Given the description of an element on the screen output the (x, y) to click on. 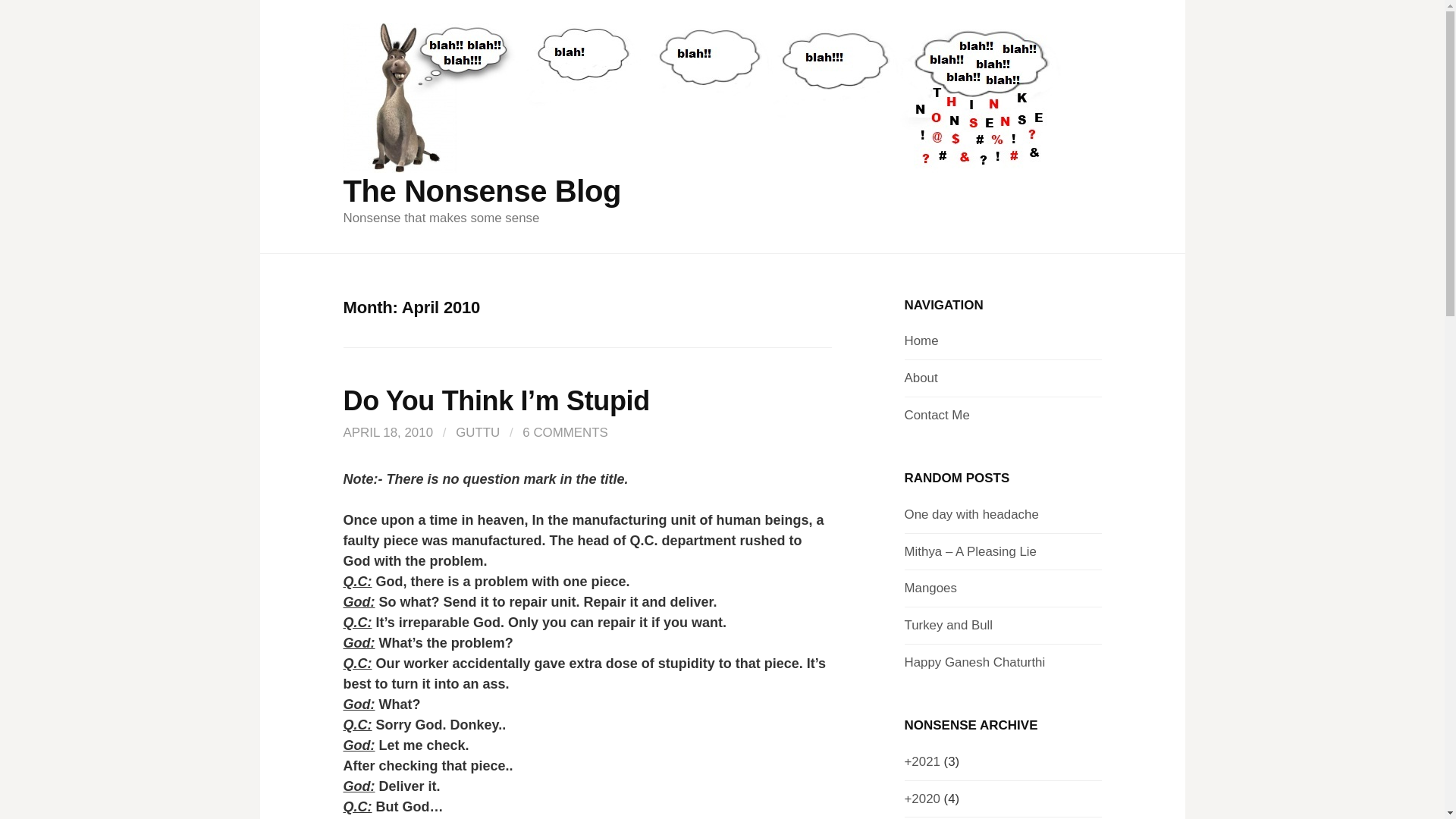
June 9, 2008 (930, 587)
Home (920, 340)
GUTTU (477, 432)
Turkey and Bull (948, 625)
Contact Me (936, 414)
6 COMMENTS (565, 432)
February 20, 2008 (969, 551)
The Nonsense Blog (481, 191)
June 13, 2008 (948, 625)
Happy Ganesh Chaturthi (974, 662)
One day with headache (971, 513)
August 23, 2009 (974, 662)
About (920, 377)
APRIL 18, 2010 (387, 432)
November 26, 2008 (971, 513)
